Given the description of an element on the screen output the (x, y) to click on. 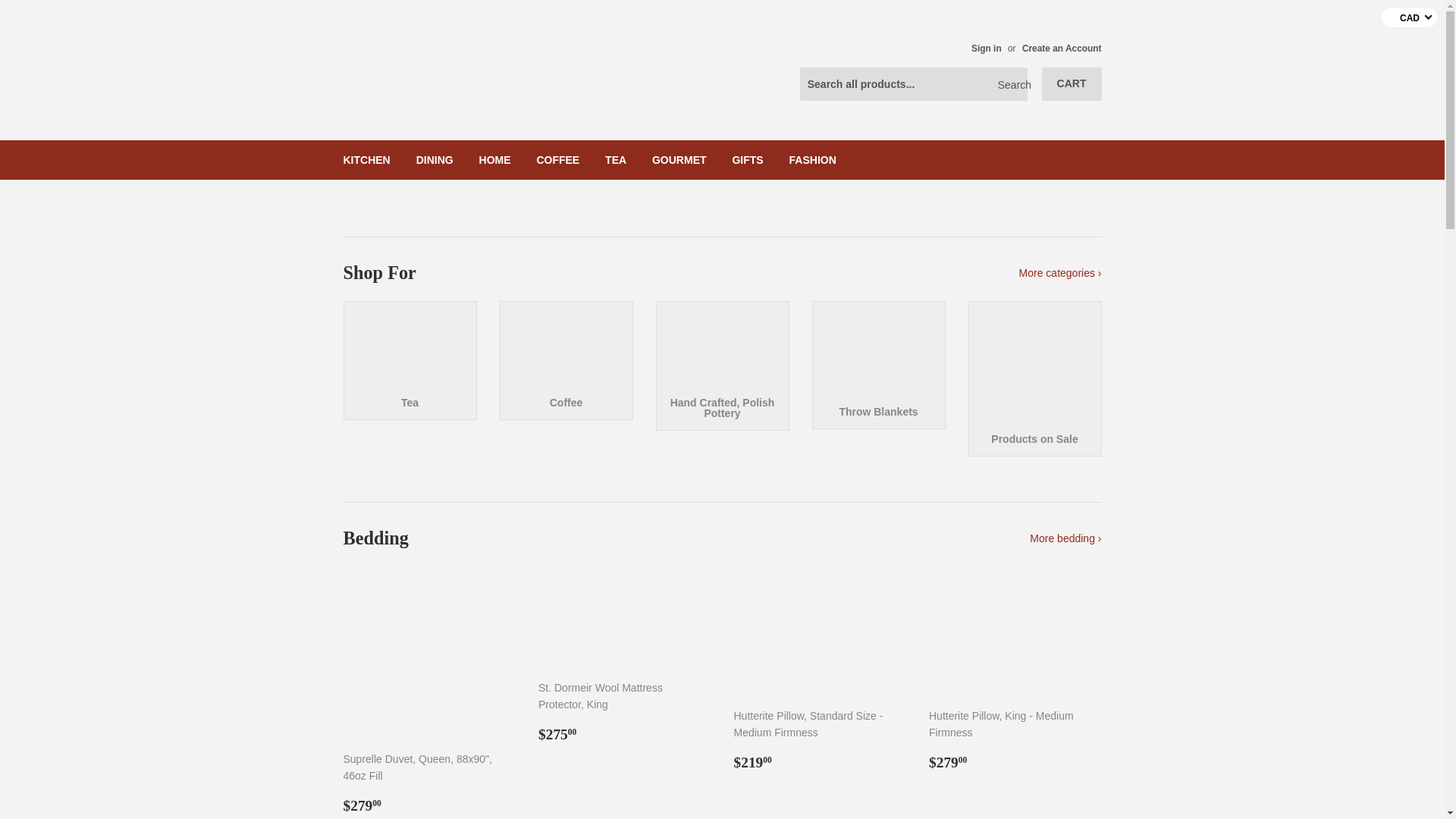
Browse our Coffee collection (565, 360)
Sign in (986, 48)
Create an Account (1062, 48)
Browse our Tea collection (409, 360)
Browse our Hand Crafted, Polish Pottery collection (722, 365)
Browse our Throw Blankets collection (877, 365)
CART (1072, 83)
Search (1009, 84)
